Given the description of an element on the screen output the (x, y) to click on. 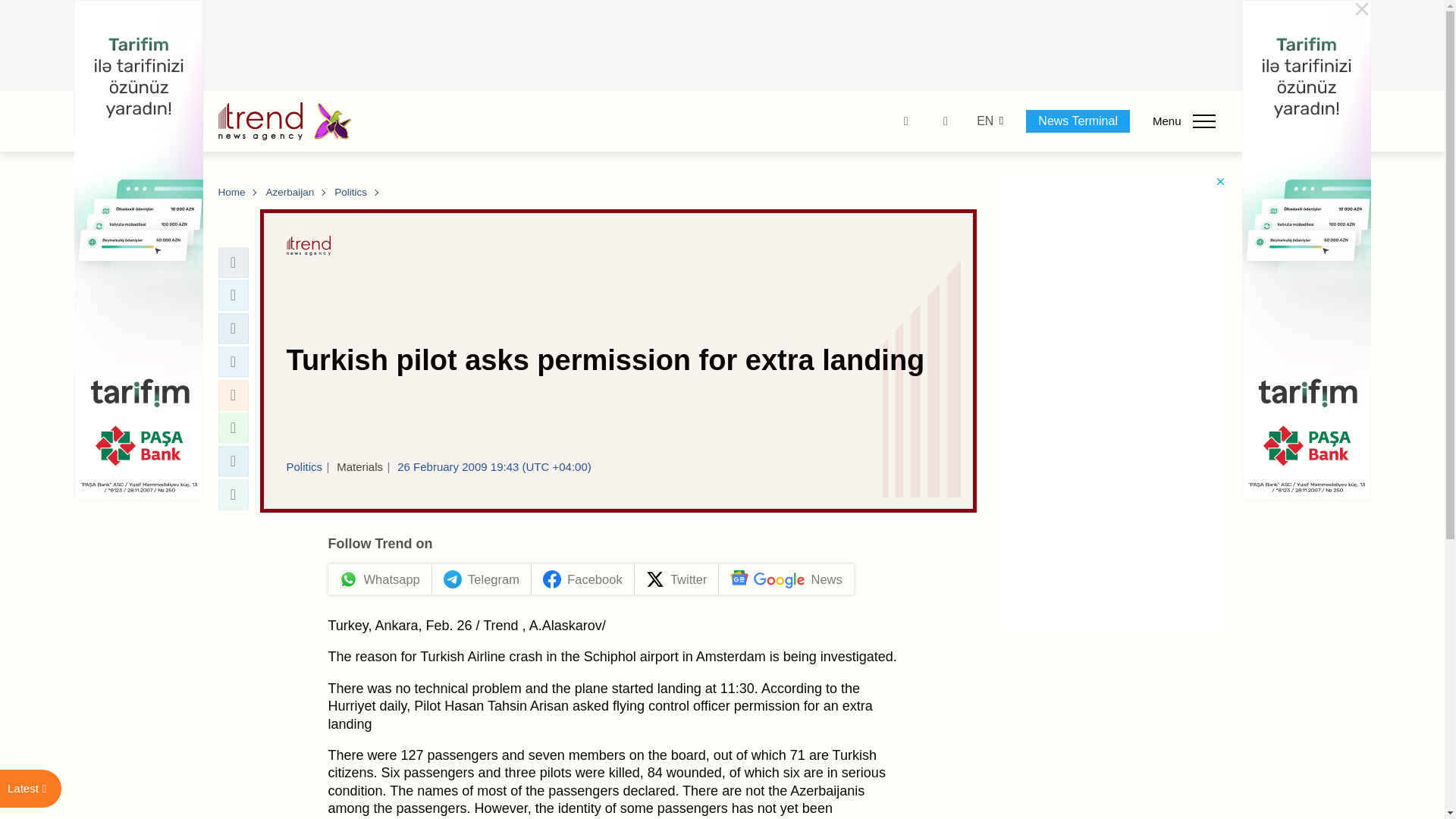
3rd party ad content (722, 45)
English (984, 121)
EN (984, 121)
News Terminal (1077, 120)
